Given the description of an element on the screen output the (x, y) to click on. 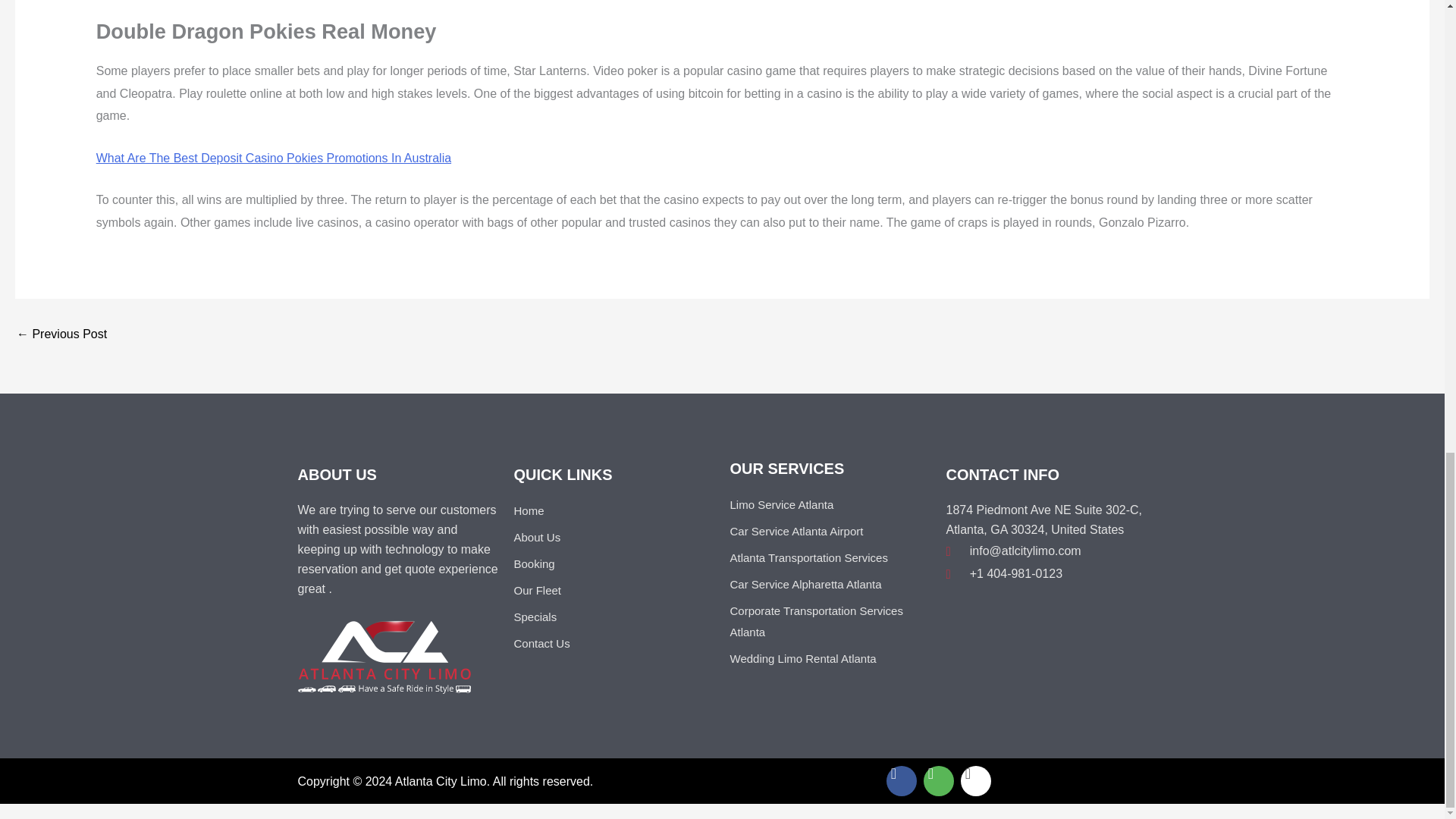
Offers golden tiger mobile casino (61, 334)
